Given the description of an element on the screen output the (x, y) to click on. 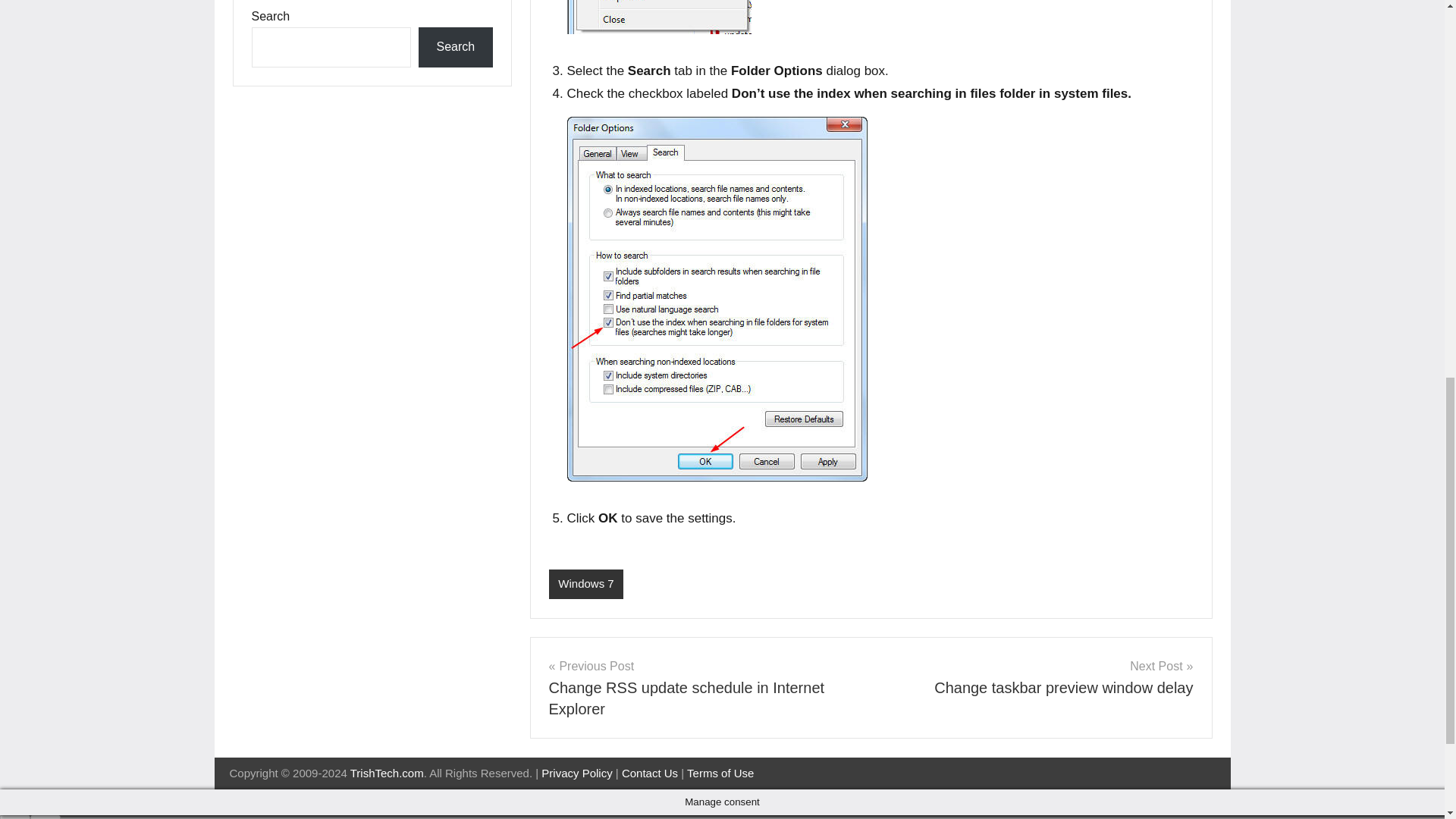
Search (455, 47)
TrishTech.com (386, 772)
Privacy Policy (1037, 677)
Contact Us (576, 772)
Terms of Use (649, 772)
Windows 7 (720, 772)
